Given the description of an element on the screen output the (x, y) to click on. 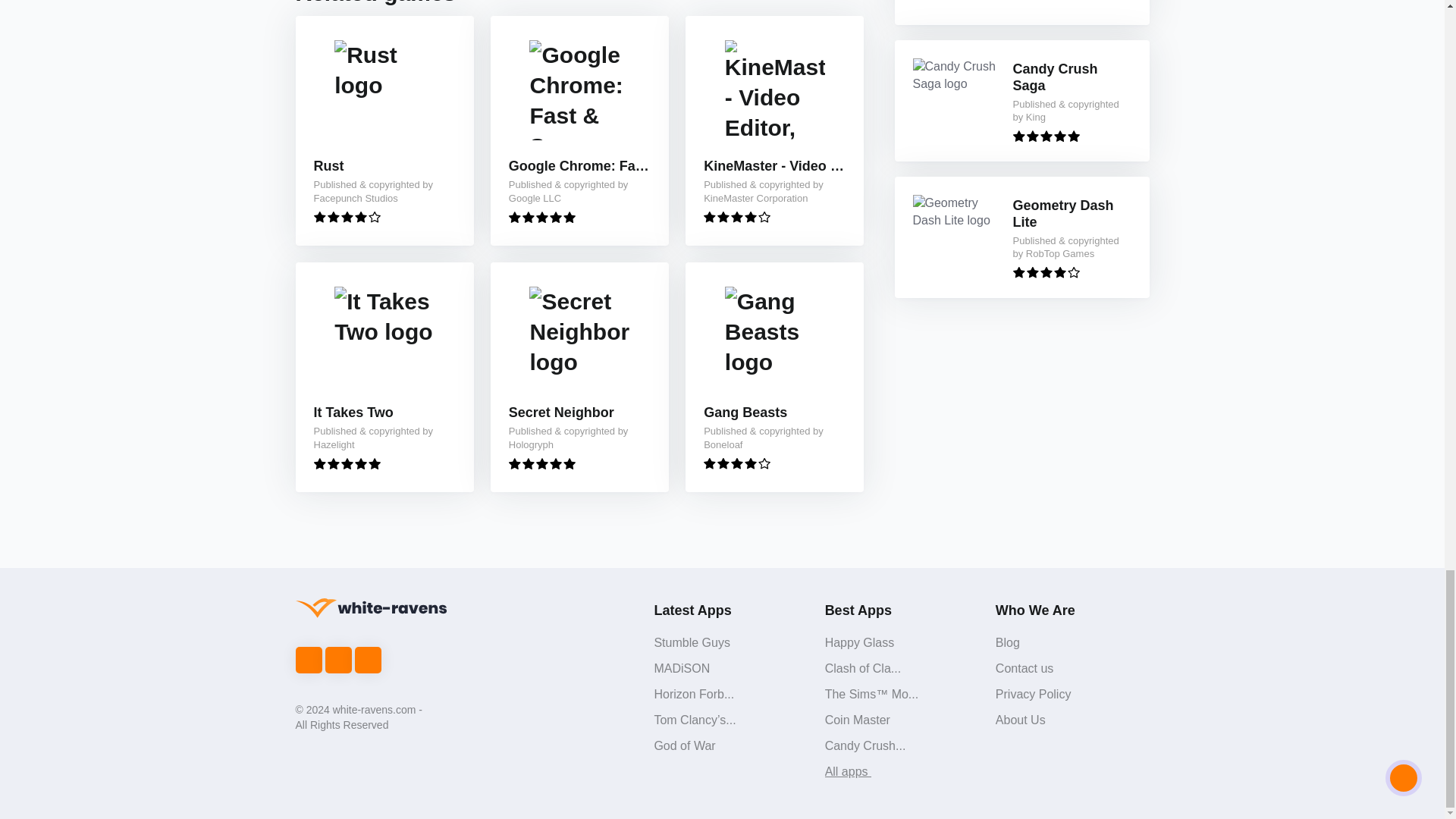
KineMaster - Video Editor, Video Maker (774, 166)
User rating 5 (541, 463)
User rating 4 (736, 463)
It Takes Two (353, 412)
Secret Neighbor (561, 412)
User rating 4 (736, 216)
Rust (328, 166)
User rating 5 (347, 463)
User rating 4 (1046, 272)
User rating 5 (541, 216)
Gang Beasts (745, 412)
User rating 4 (347, 216)
User rating 5 (1046, 135)
